Given the description of an element on the screen output the (x, y) to click on. 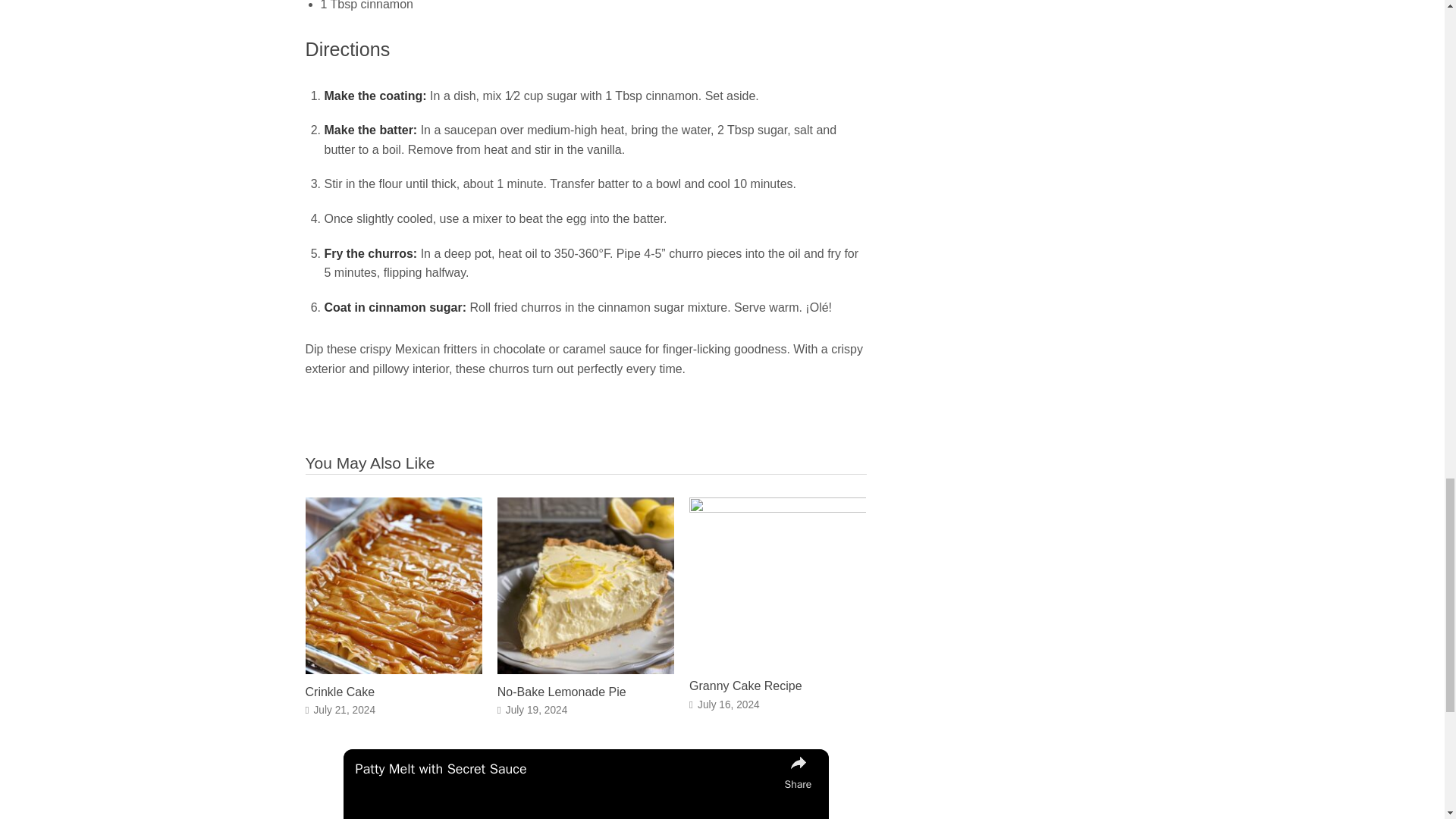
Crinkle Cake (392, 669)
Crinkle Cake (339, 691)
Granny Cake Recipe (777, 508)
Granny Cake Recipe (745, 685)
No-Bake Lemonade Pie (585, 669)
Granny Cake Recipe (745, 685)
No-Bake Lemonade Pie (561, 691)
No-Bake Lemonade Pie (561, 691)
Crinkle Cake (339, 691)
Patty Melt with Secret Sauce (565, 769)
